Given the description of an element on the screen output the (x, y) to click on. 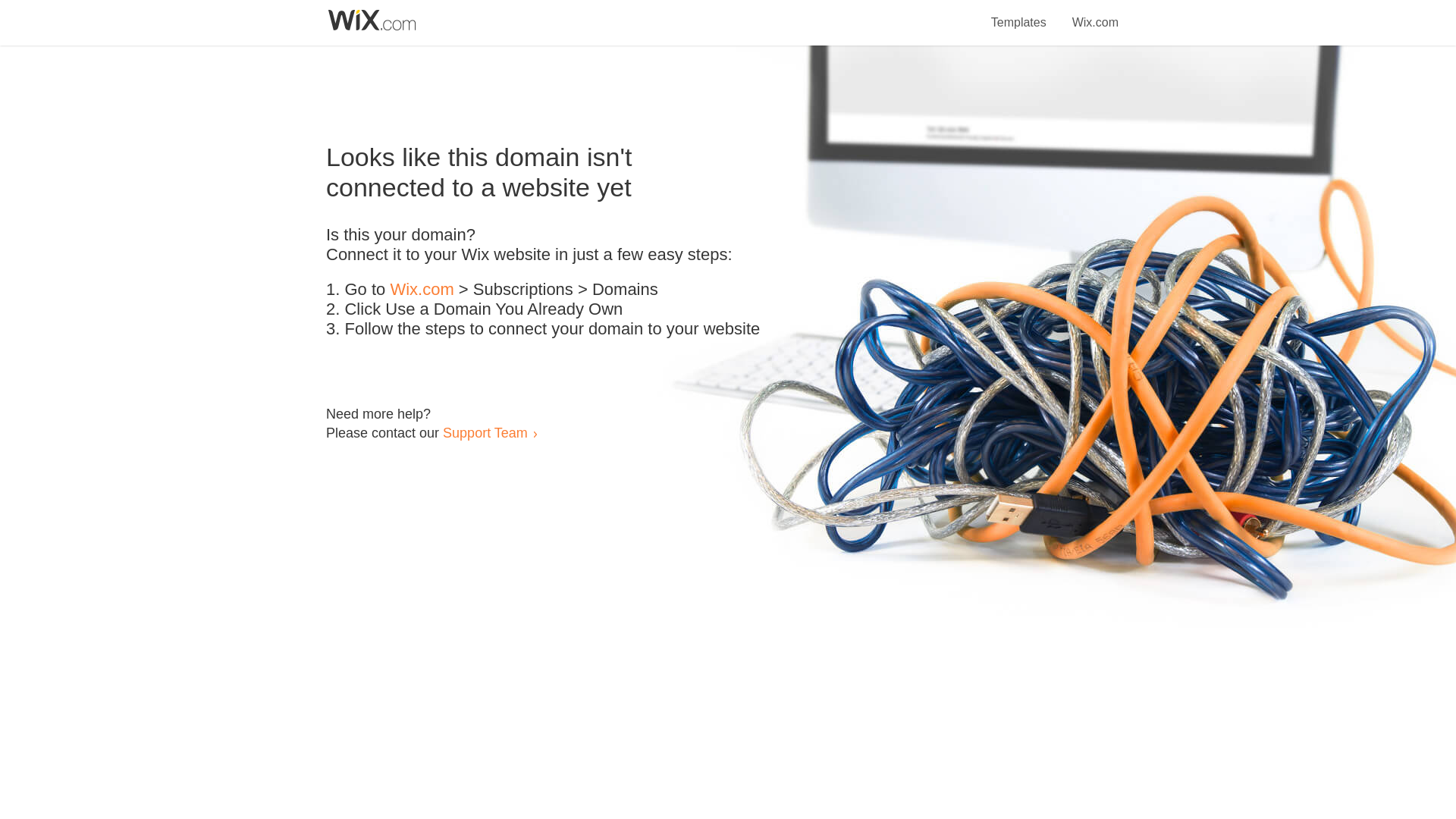
Templates (1018, 14)
Wix.com (421, 289)
Wix.com (1095, 14)
Support Team (484, 432)
